Given the description of an element on the screen output the (x, y) to click on. 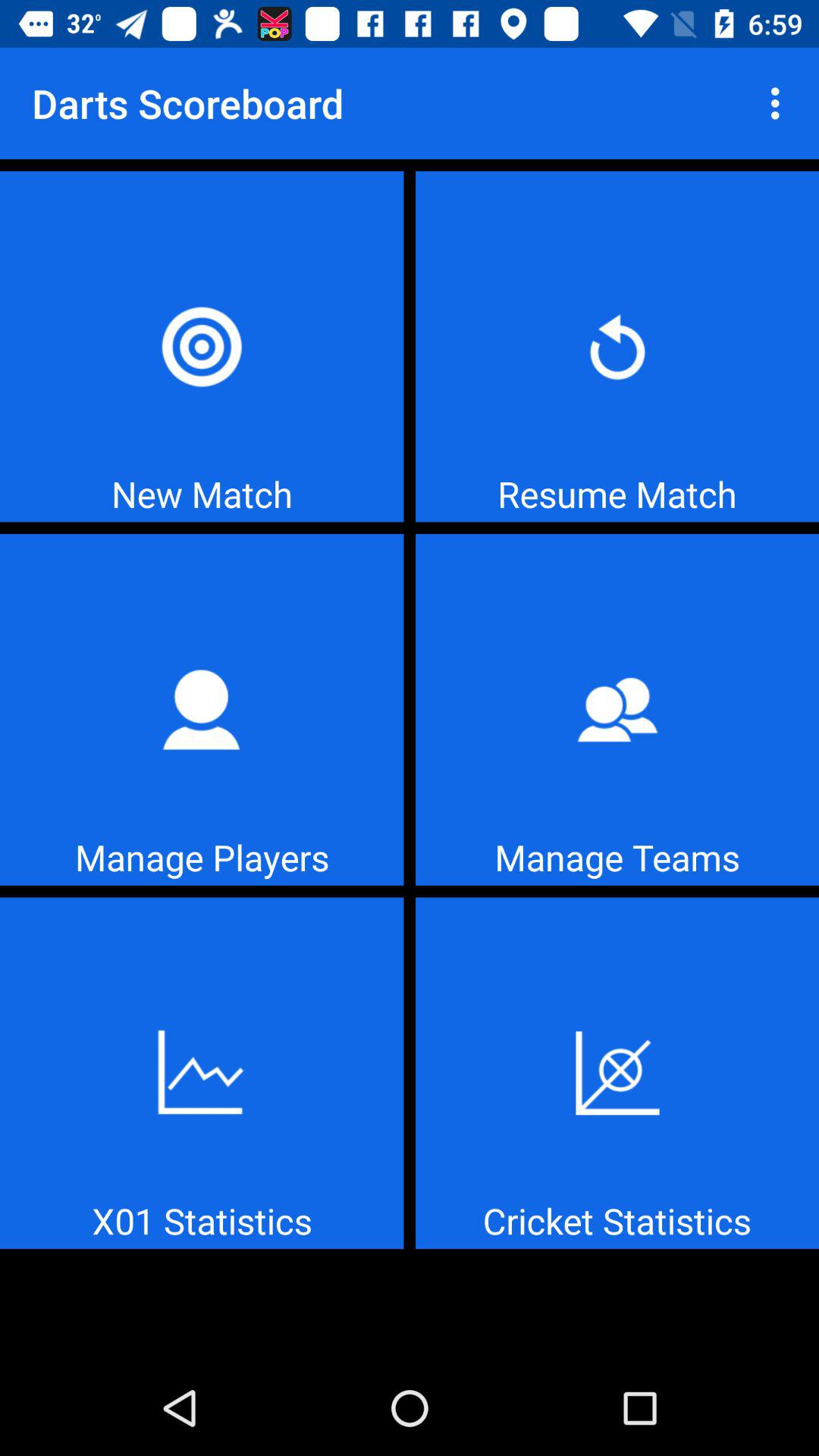
toggle cricket statistics (617, 1072)
